Given the description of an element on the screen output the (x, y) to click on. 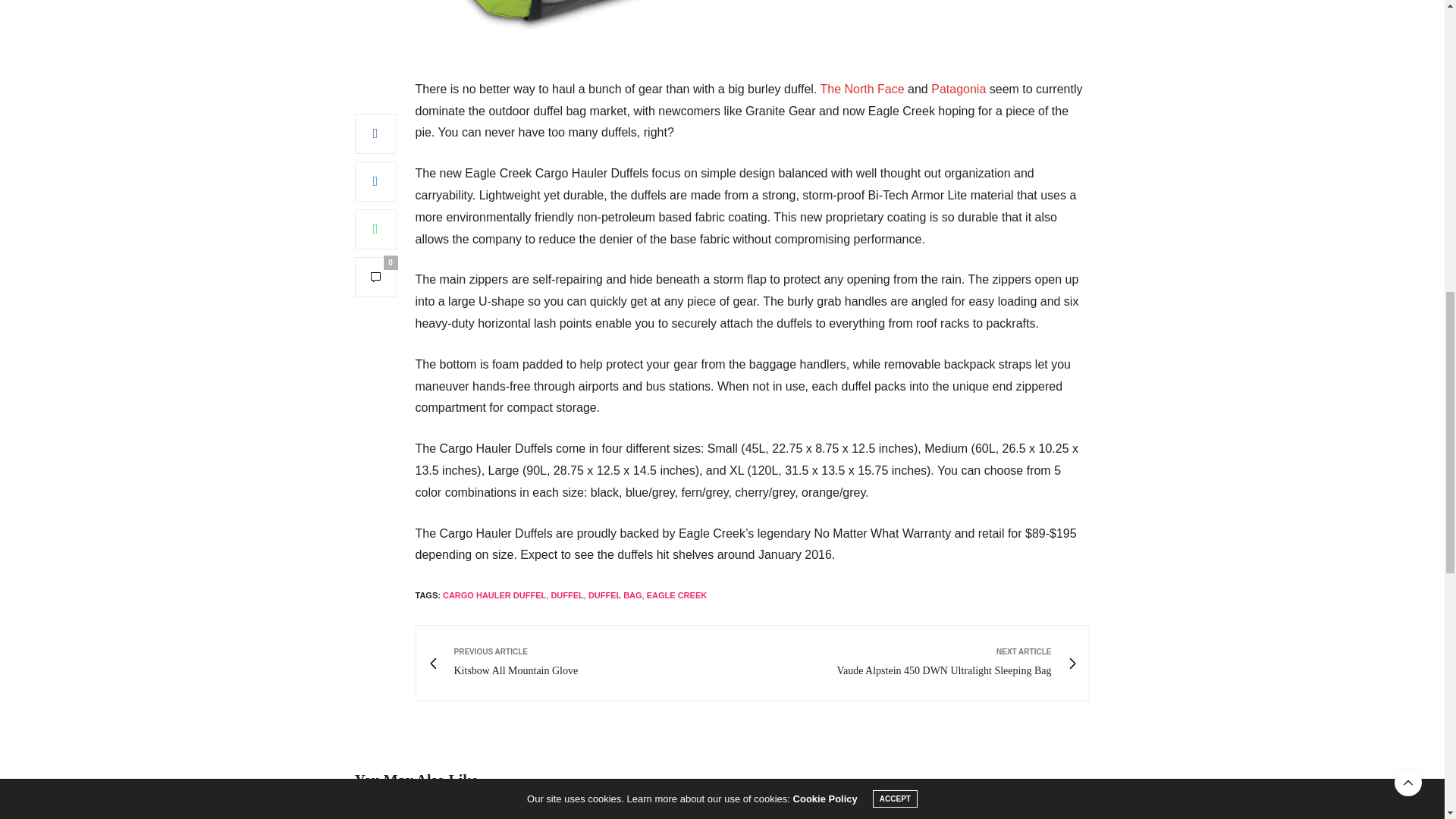
Mega Gear Haulers For 2015 (470, 816)
